Given the description of an element on the screen output the (x, y) to click on. 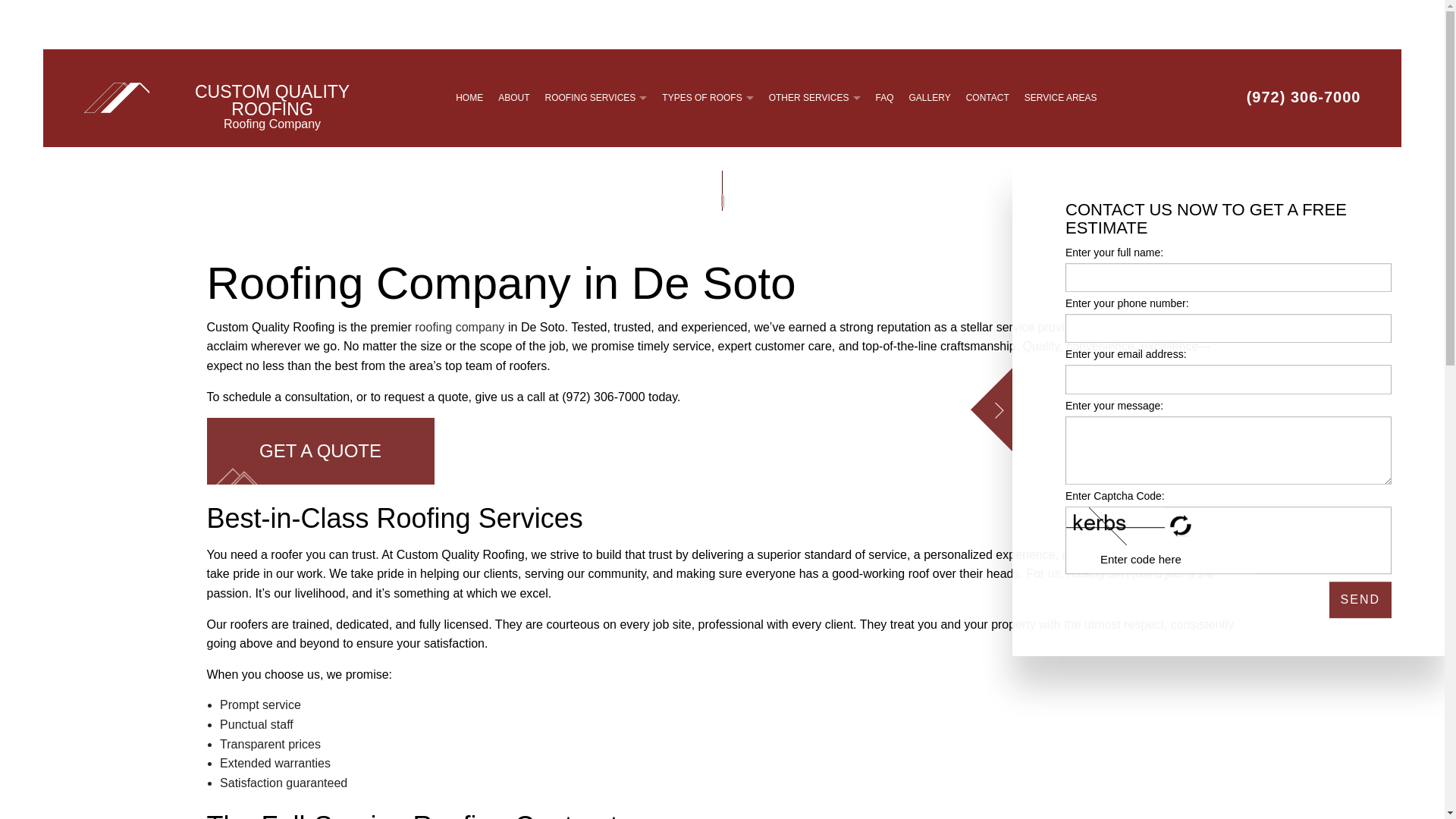
Email Address (1228, 379)
Phone Number (1228, 328)
Your Message (1228, 450)
Refresh Captcha (1181, 526)
HOME (469, 98)
Roofing Company (458, 327)
Captcha Code (1172, 559)
Full Name (1228, 276)
ABOUT (513, 98)
Custom Quality Roofing (116, 97)
ROOFING SERVICES (596, 98)
